Given the description of an element on the screen output the (x, y) to click on. 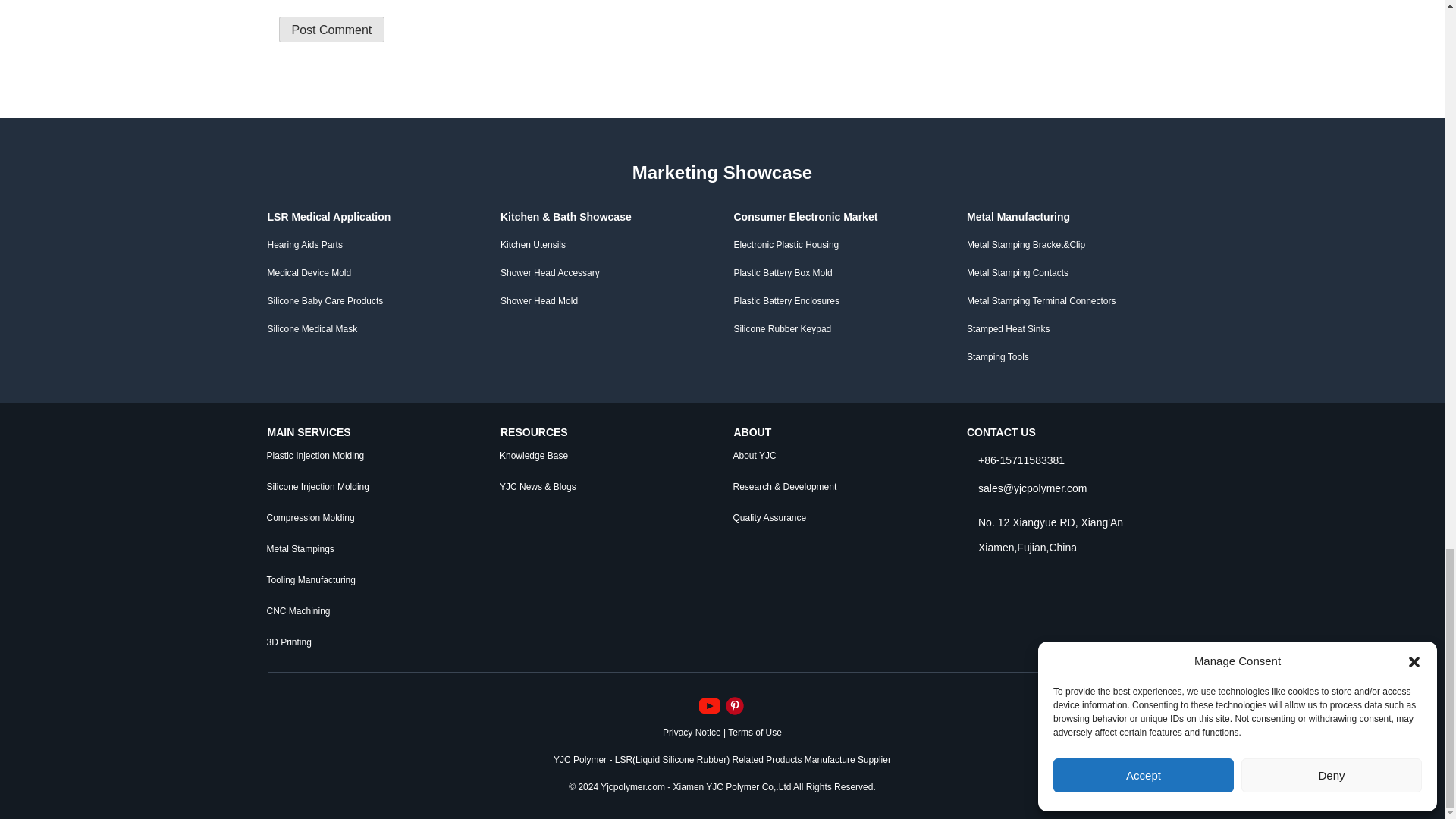
Privacy Notice (691, 731)
Terms of Use - Yjcpolymer.com (754, 731)
Find us on Youtube (710, 704)
Find us on Pinterest (734, 704)
Post Comment (332, 29)
